Given the description of an element on the screen output the (x, y) to click on. 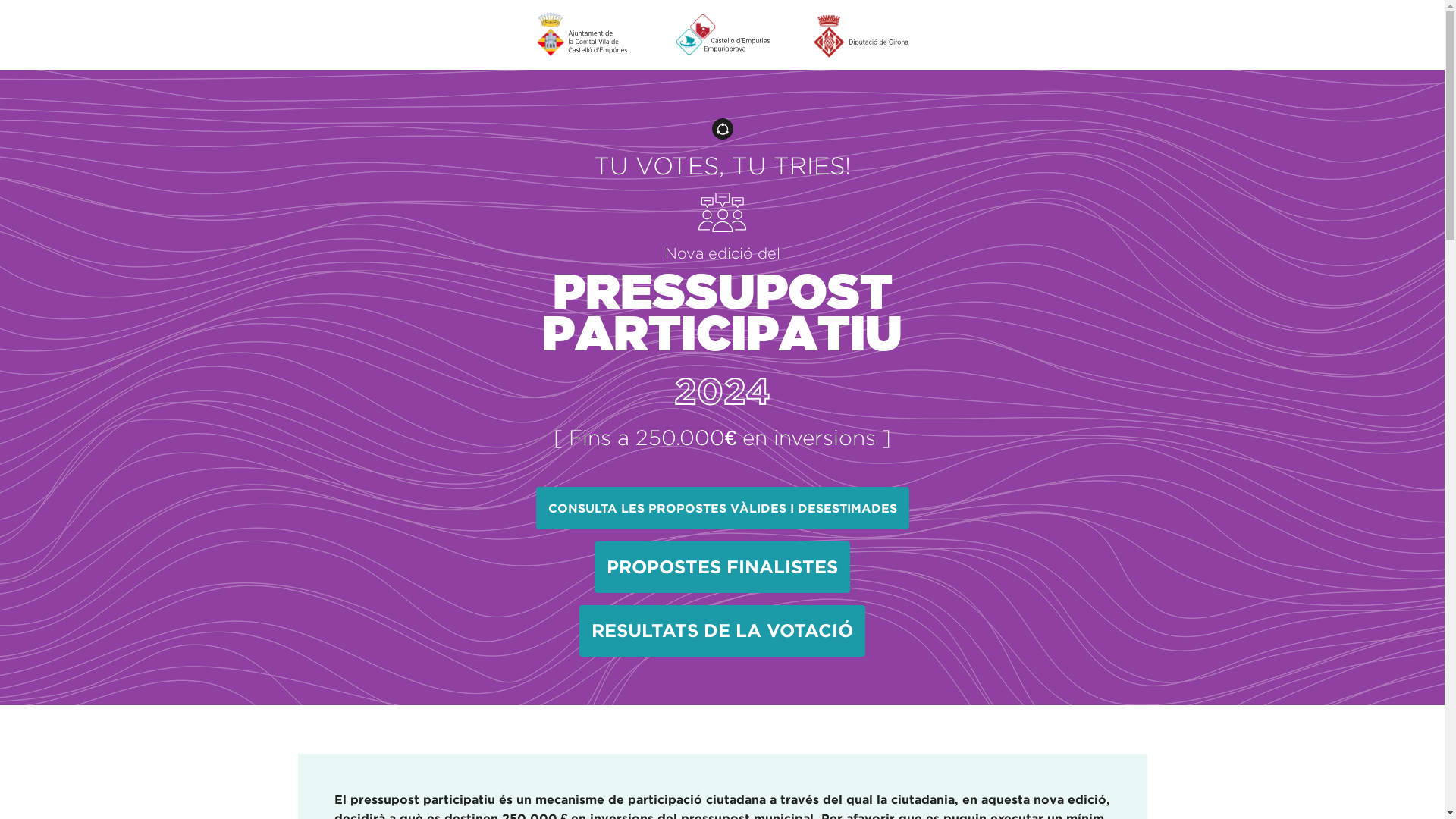
PROPOSTES FINALISTES Element type: text (722, 567)
